Given the description of an element on the screen output the (x, y) to click on. 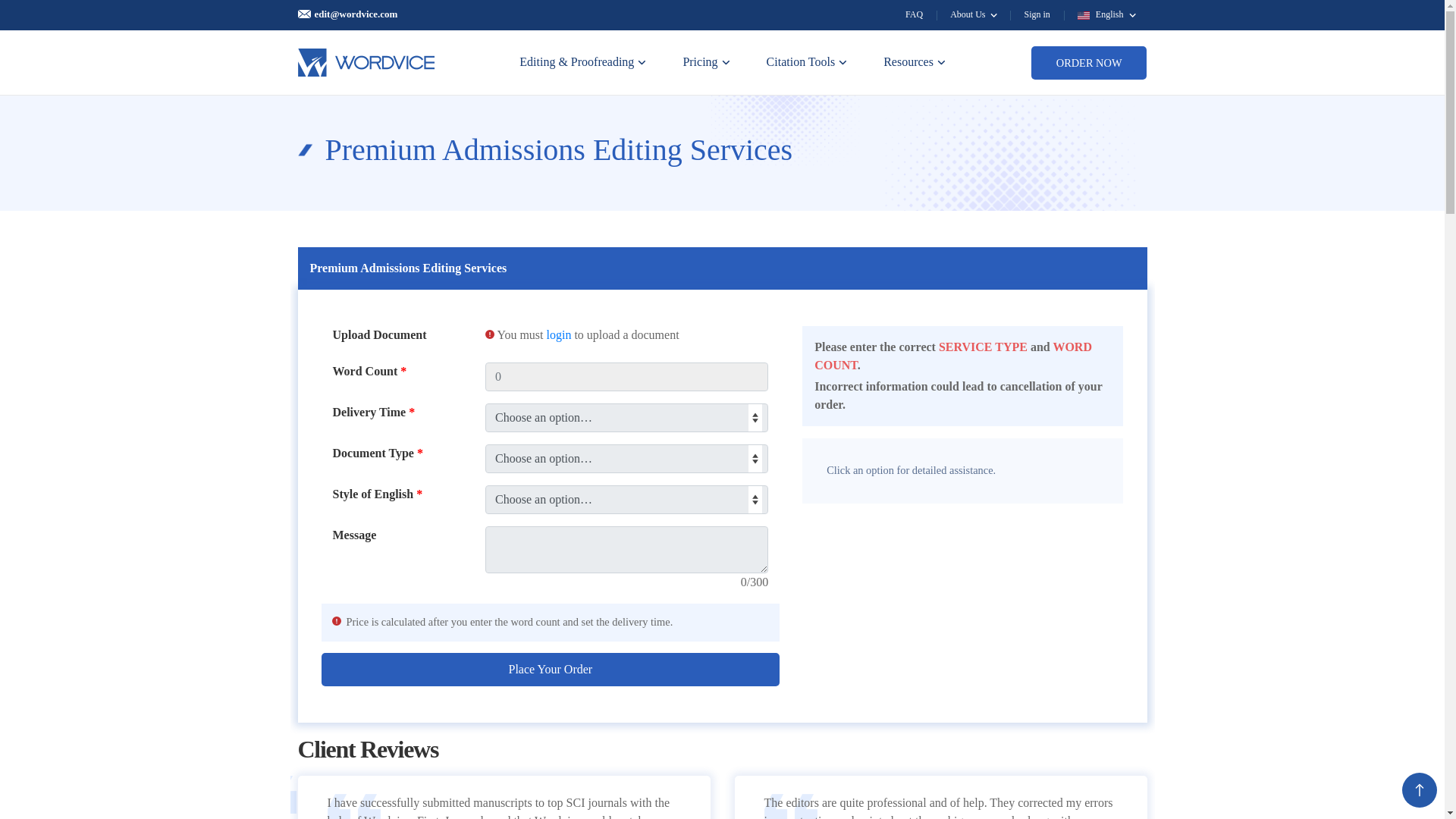
About Us (972, 14)
English (1106, 14)
Sign in (1036, 14)
FAQ (913, 14)
Pricing (705, 62)
